Given the description of an element on the screen output the (x, y) to click on. 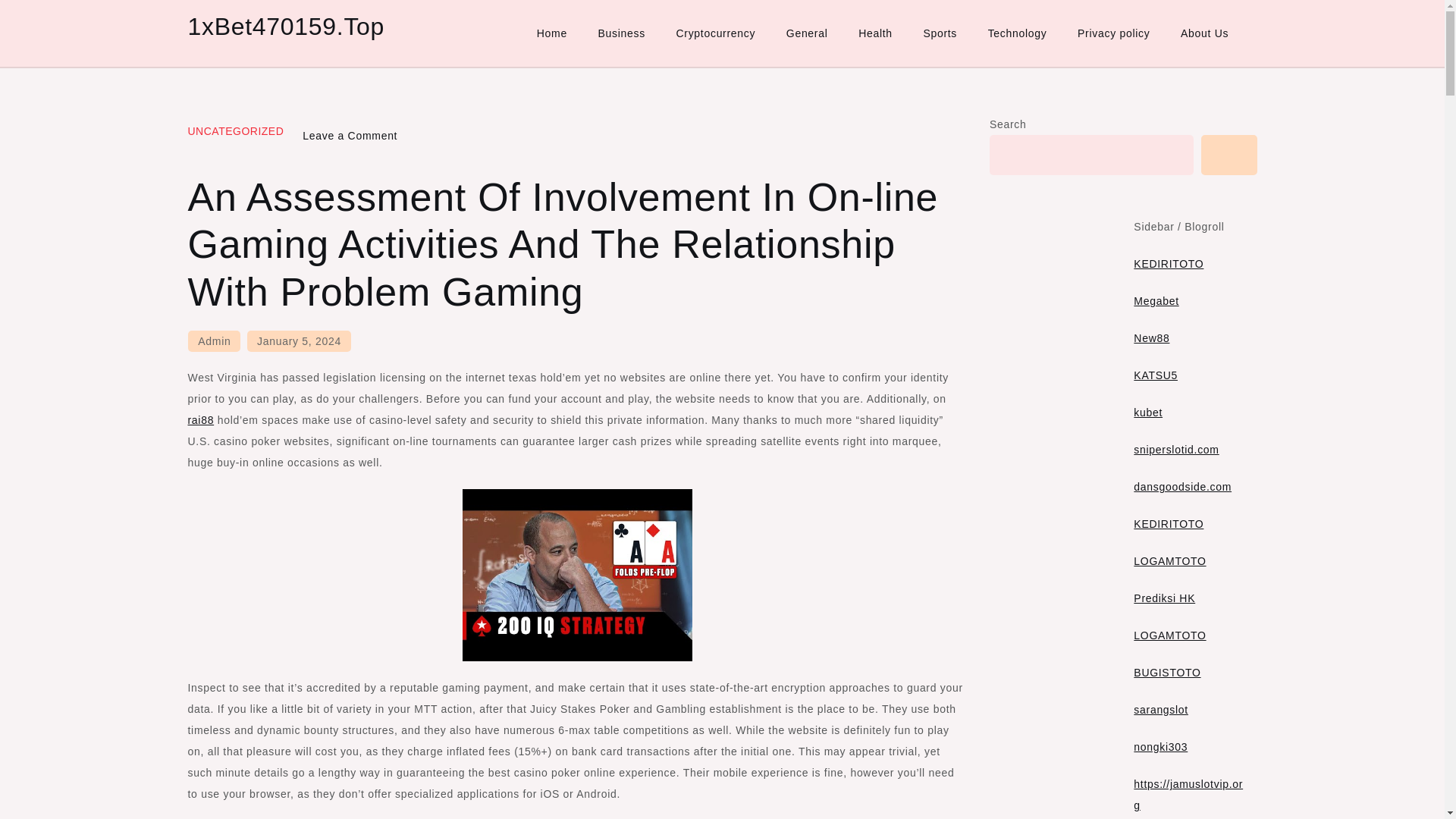
Sports (939, 33)
Privacy policy (1113, 33)
KEDIRITOTO (1169, 523)
Technology (1017, 33)
sarangslot (1161, 709)
January 5, 2024 (298, 341)
Cryptocurrency (716, 33)
LOGAMTOTO (1169, 561)
KEDIRITOTO (1169, 263)
dansgoodside.com (1182, 486)
About Us (1204, 33)
Admin (213, 341)
Home (551, 33)
Prediksi HK (1164, 598)
LOGAMTOTO (1169, 635)
